Given the description of an element on the screen output the (x, y) to click on. 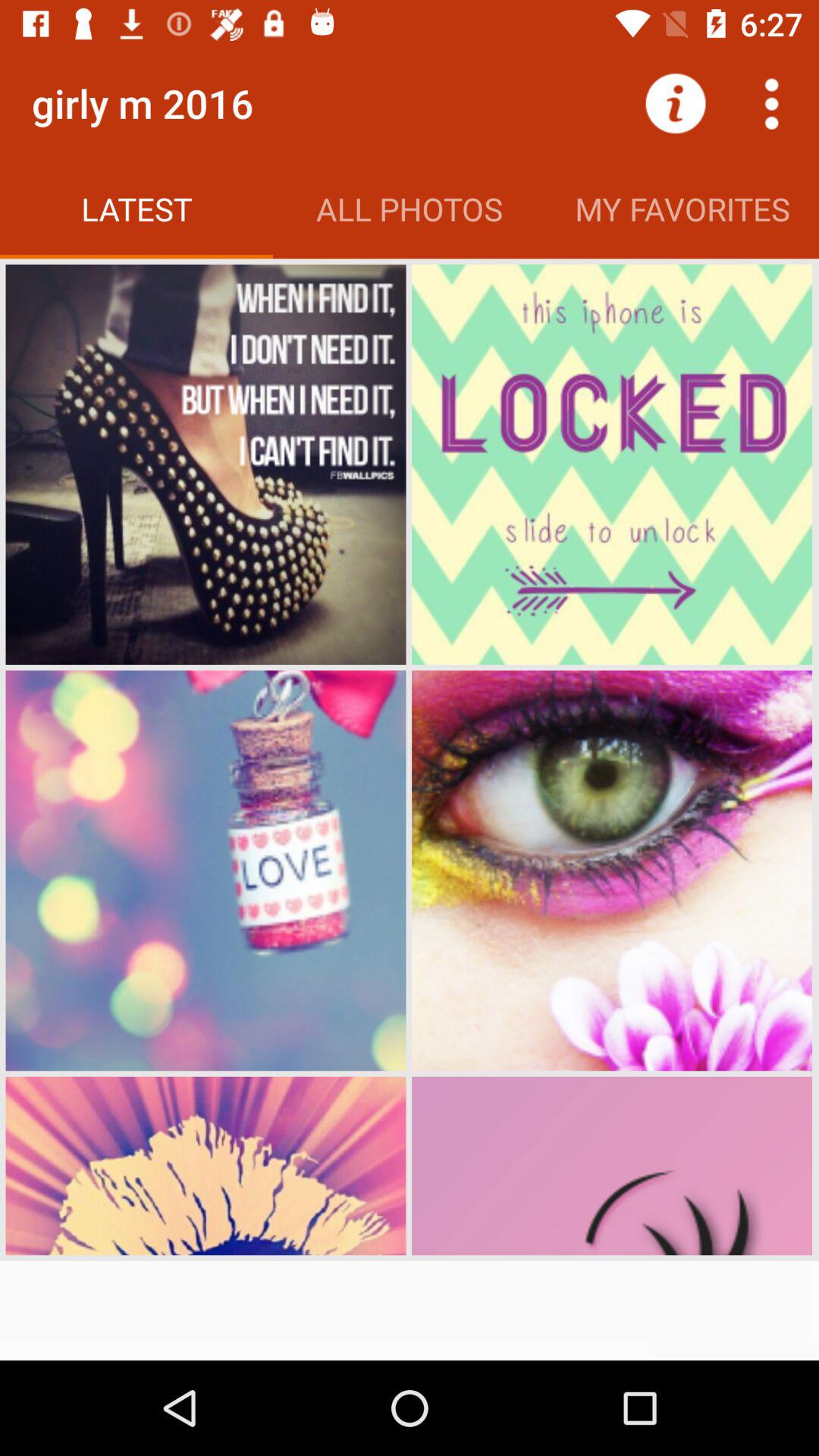
apps (771, 103)
